Given the description of an element on the screen output the (x, y) to click on. 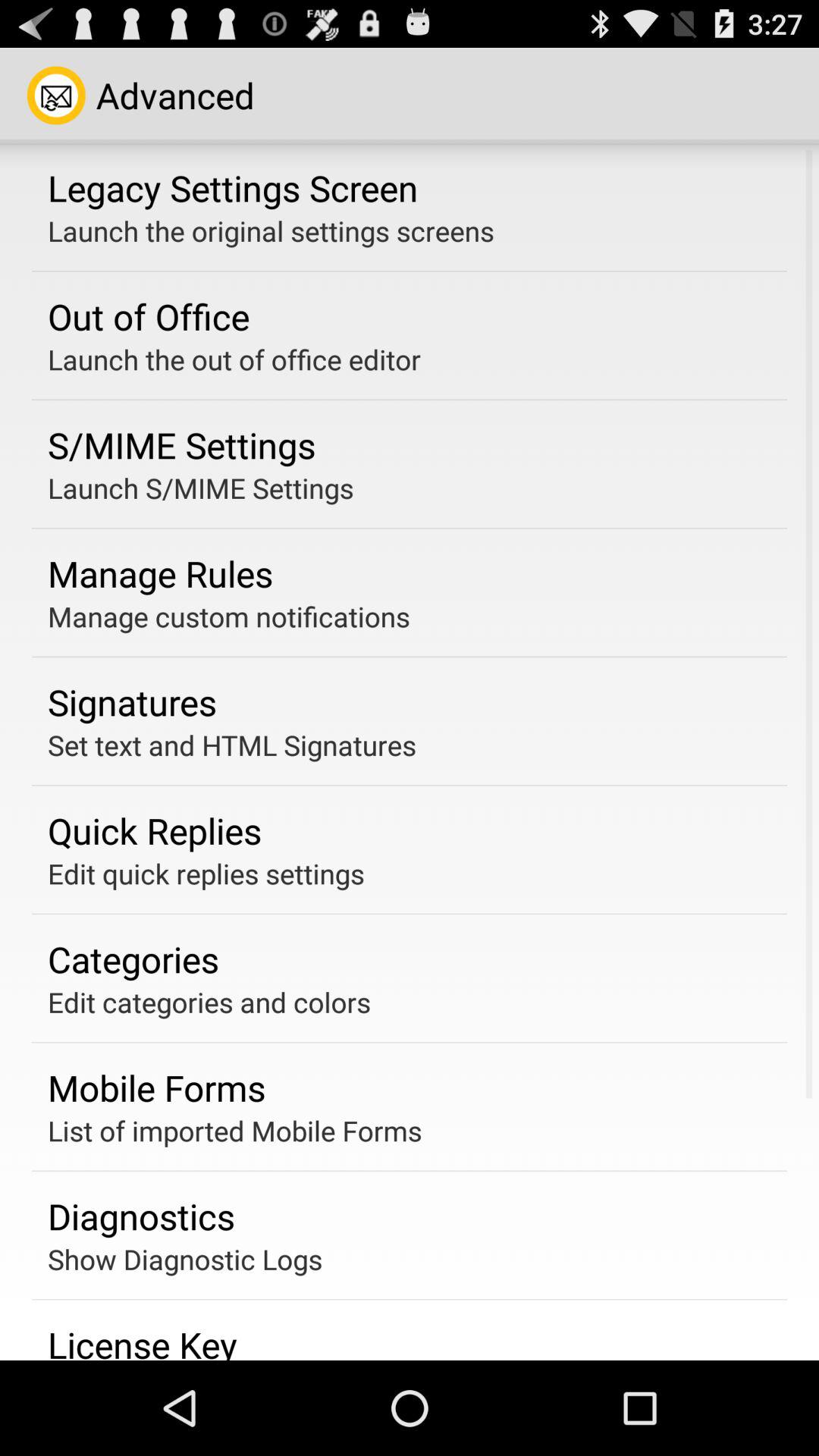
open the item below the launch s mime item (160, 573)
